Given the description of an element on the screen output the (x, y) to click on. 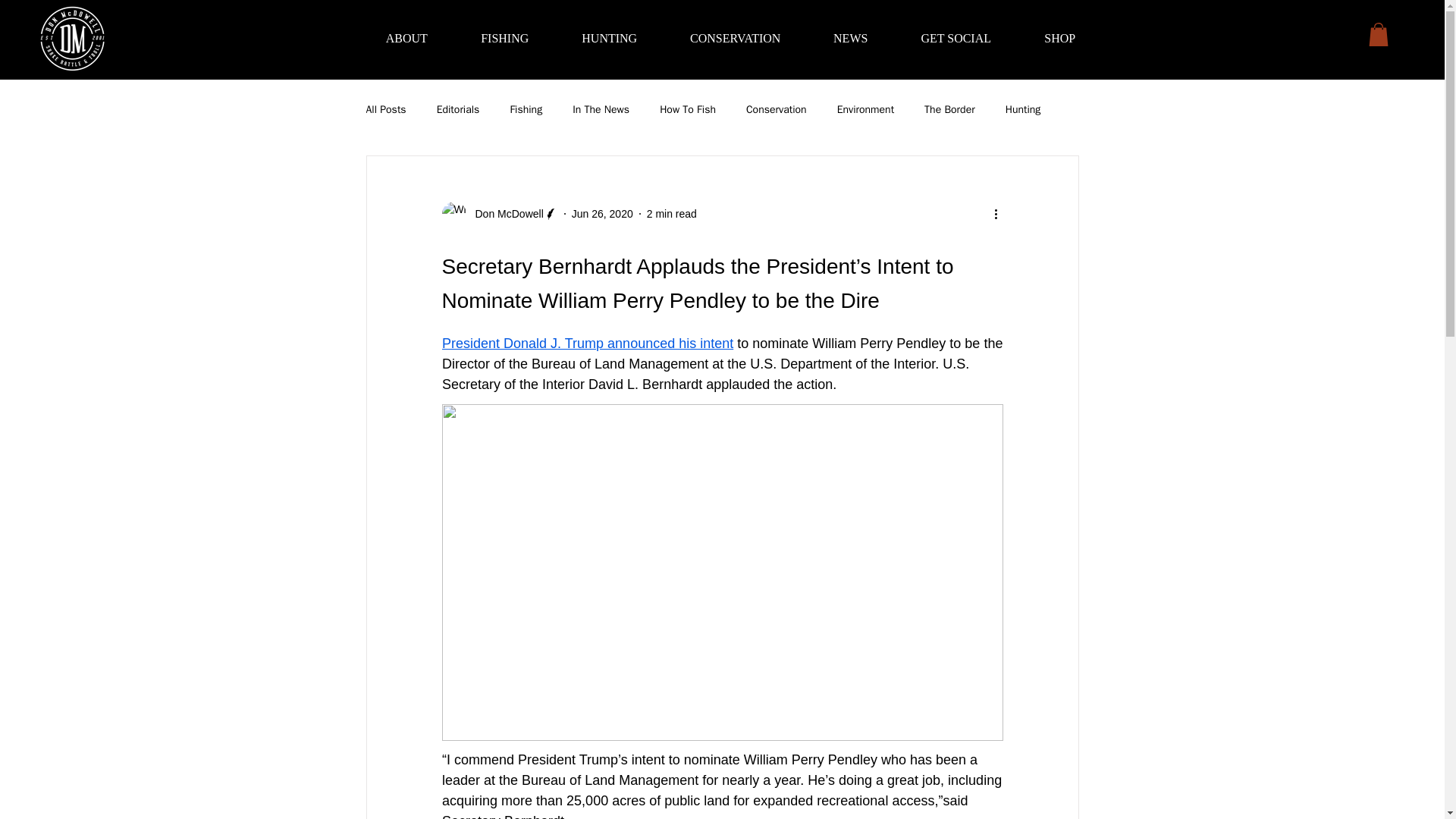
Jun 26, 2020 (602, 214)
Don McDowell (504, 213)
ABOUT (406, 38)
2 min read (671, 214)
FISHING (504, 38)
